Given the description of an element on the screen output the (x, y) to click on. 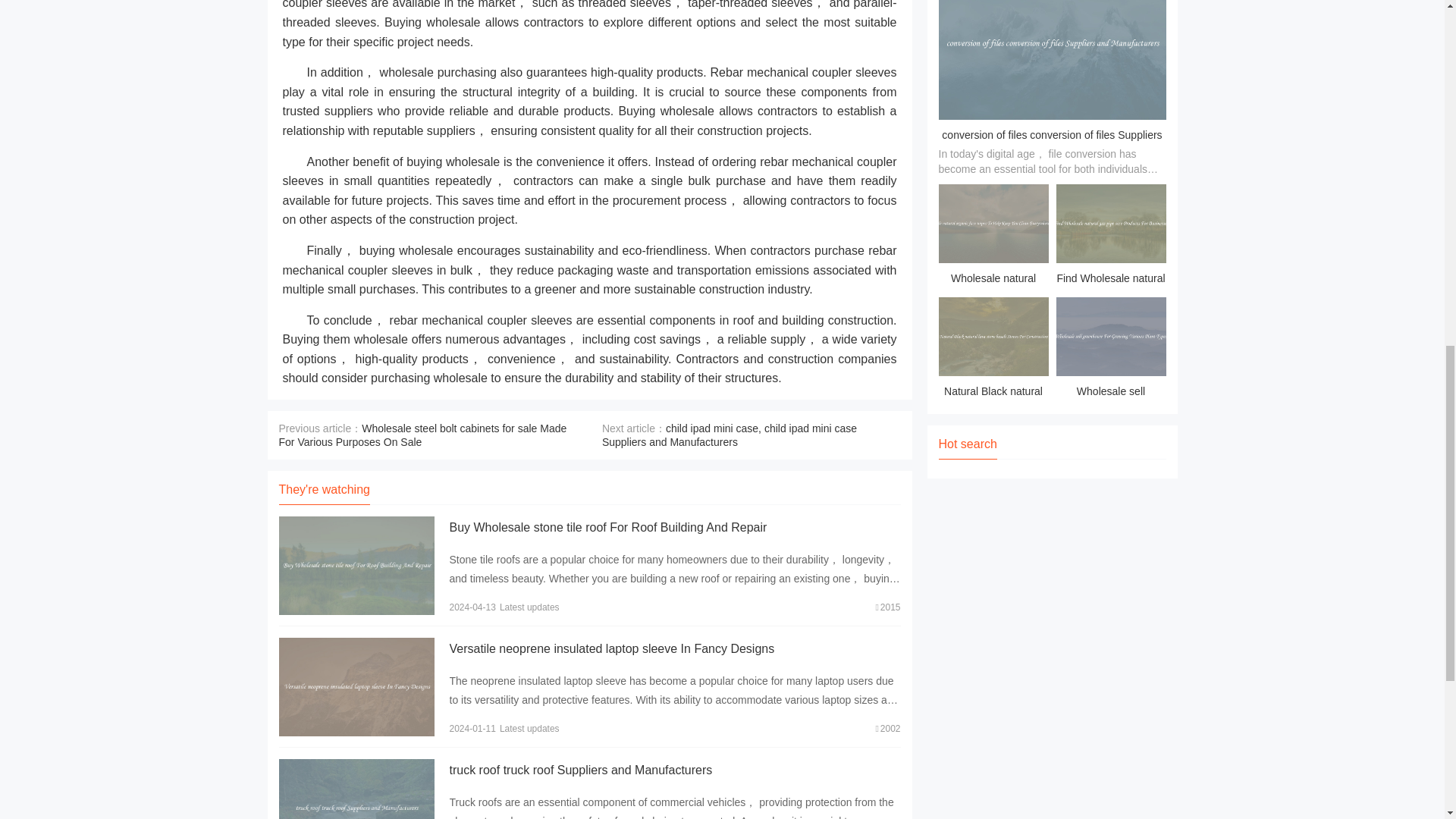
Versatile neoprene insulated laptop sleeve In Fancy Designs (611, 648)
Find Wholesale natural gas pipe size Products For Businesses (1110, 236)
truck roof truck roof Suppliers and Manufacturers (579, 769)
Buy Wholesale stone tile roof For Roof Building And Repair (607, 526)
Wholesale sell greenhouse For Growing Various Plant Types (1110, 349)
